Given the description of an element on the screen output the (x, y) to click on. 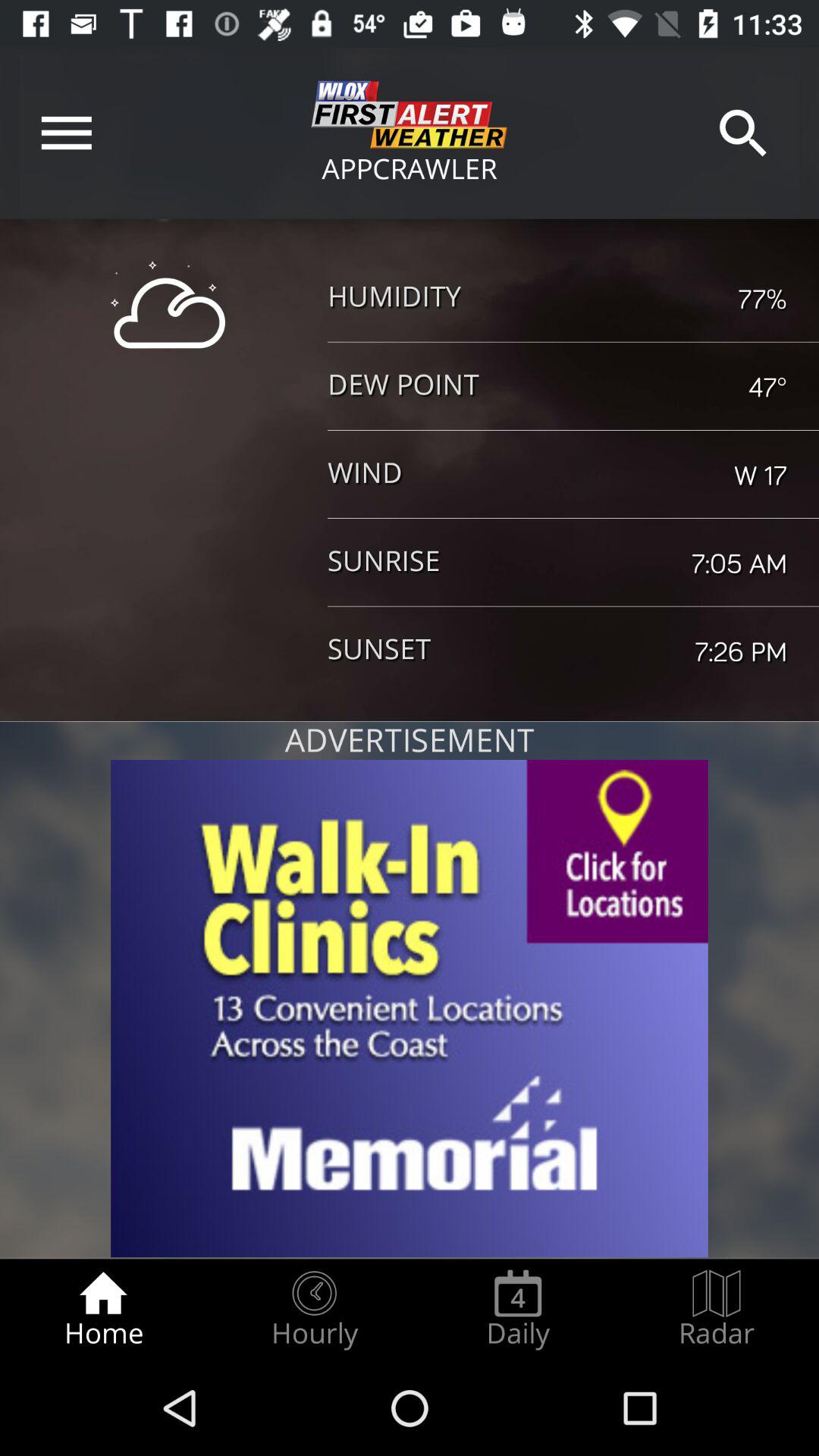
flip to the radar radio button (716, 1309)
